Given the description of an element on the screen output the (x, y) to click on. 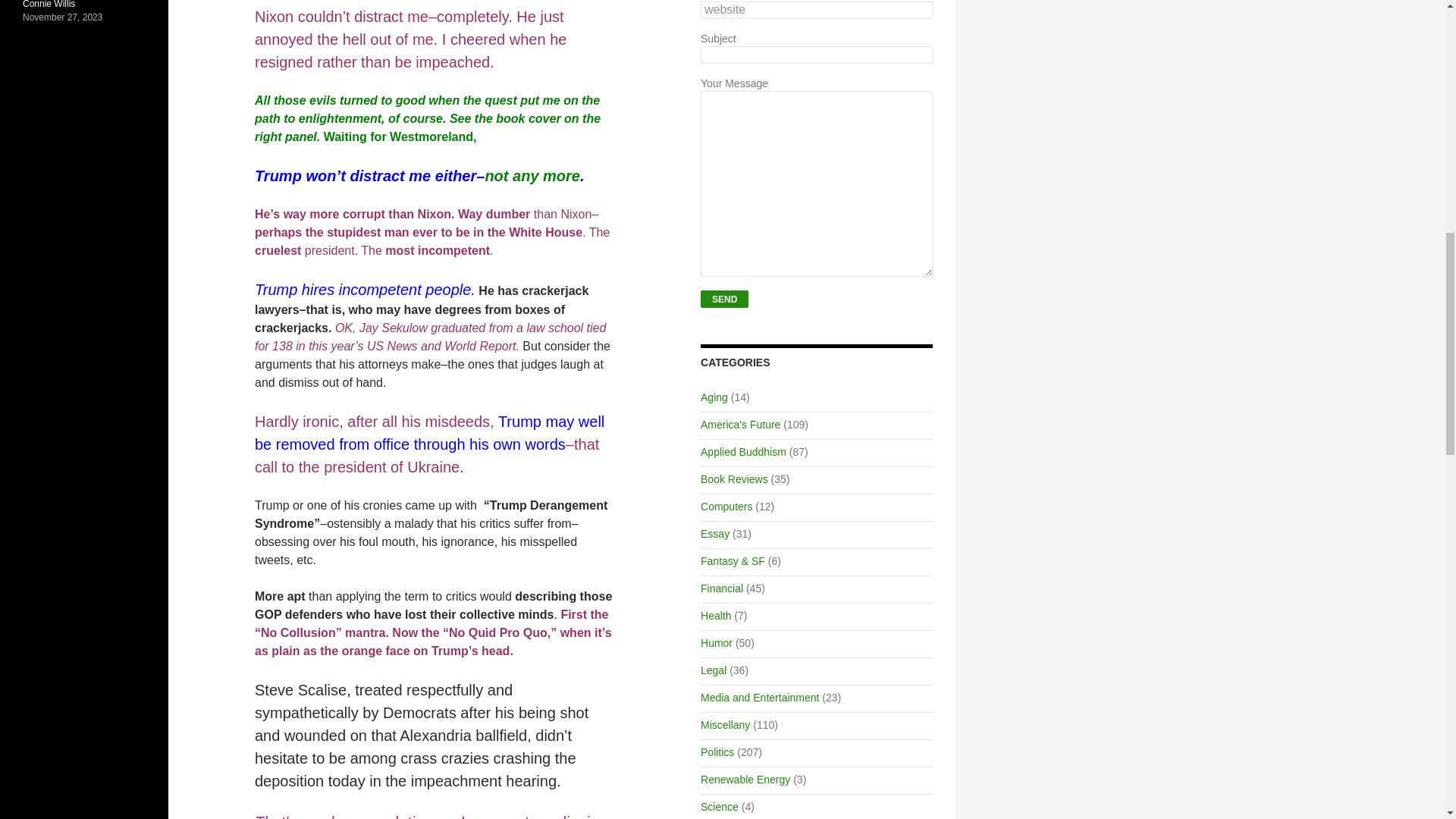
America's Future (740, 424)
Send (724, 298)
Aging (714, 397)
Book Reviews (734, 479)
Applied Buddhism (743, 451)
Send (724, 298)
